Given the description of an element on the screen output the (x, y) to click on. 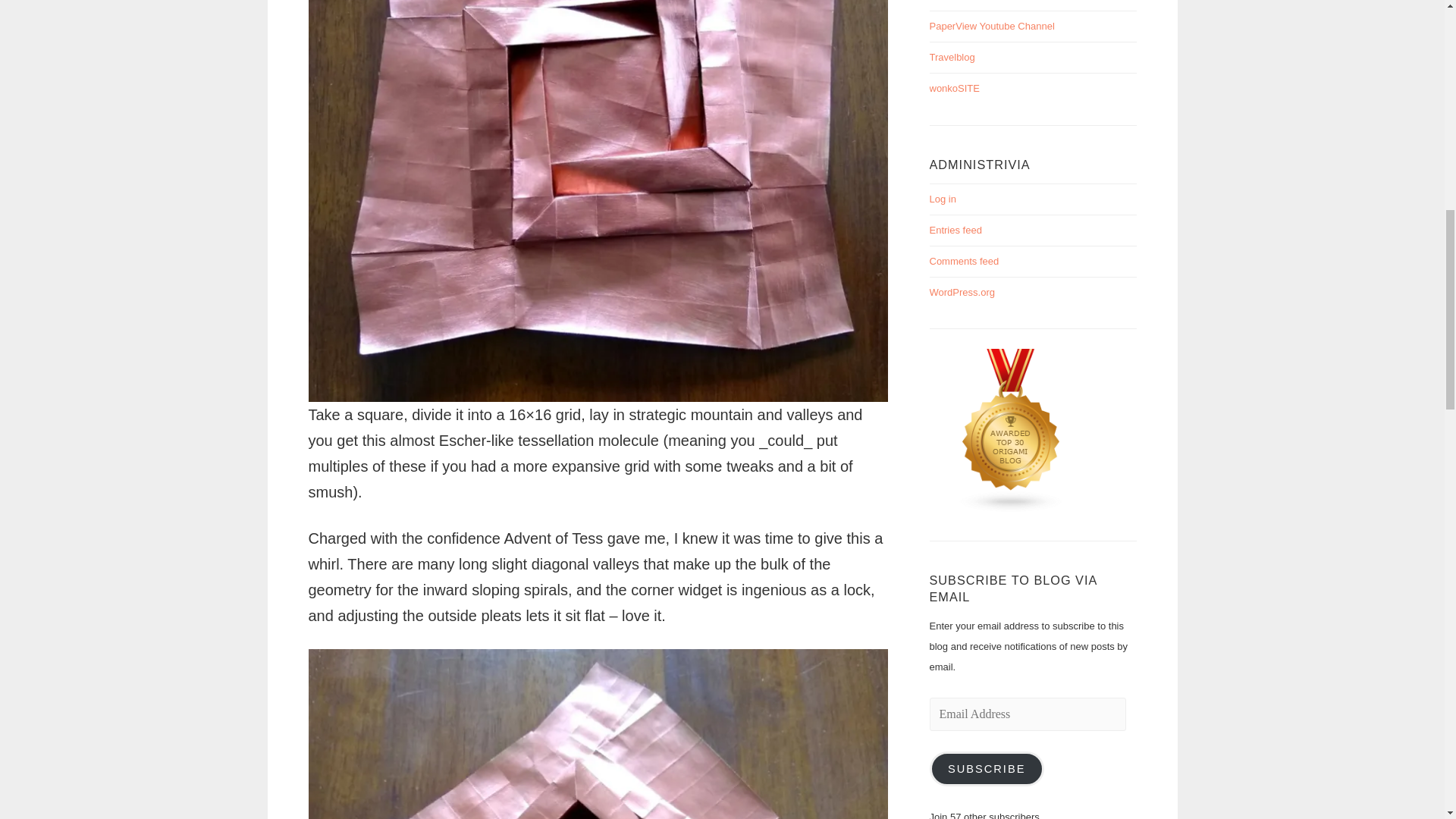
PaperView Youtube Channel (992, 25)
Origami blogs (1011, 509)
Tales from far and wide (952, 57)
My Youtube tutorials Video Channel (992, 25)
Travelblog (952, 57)
